Given the description of an element on the screen output the (x, y) to click on. 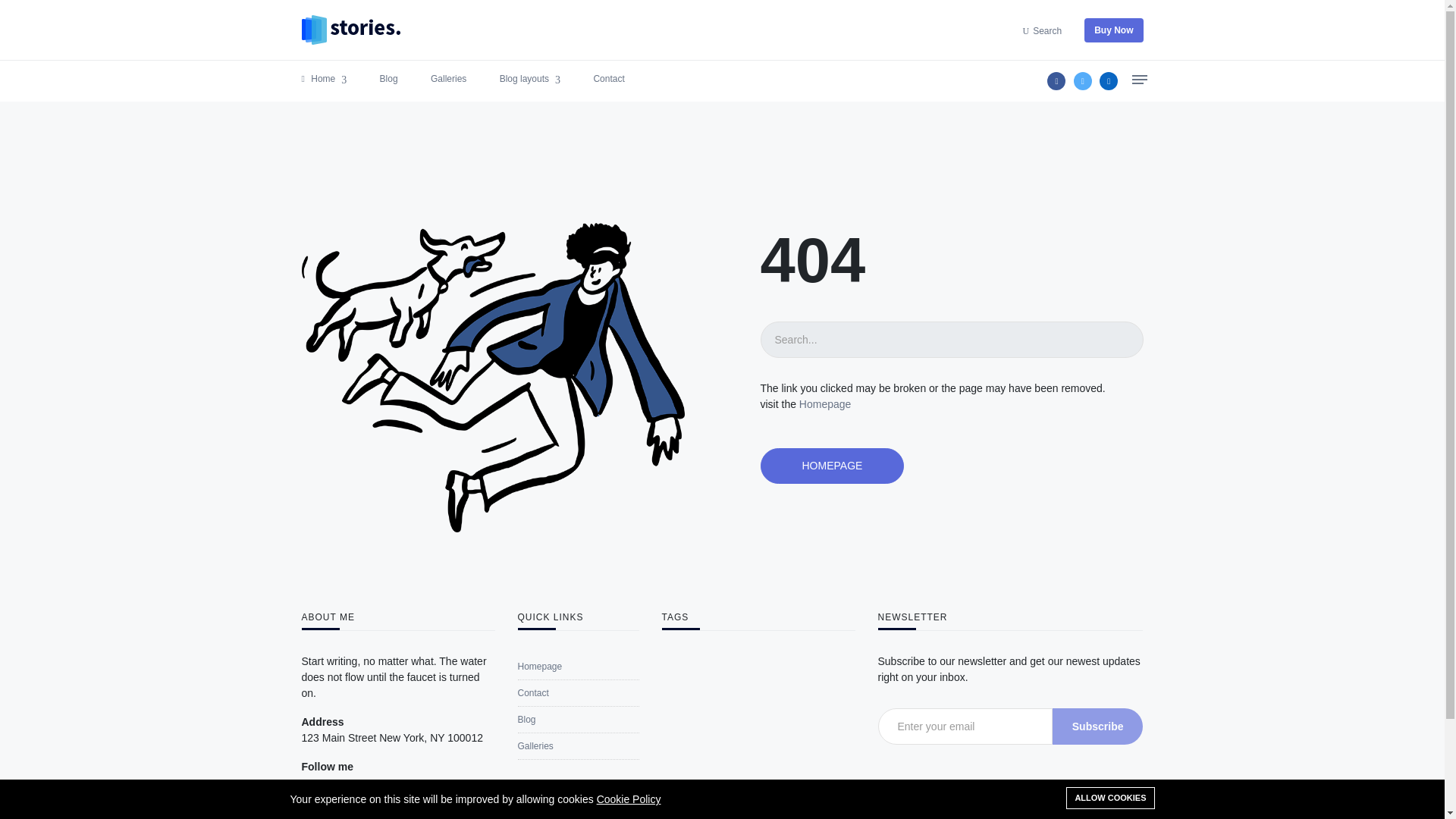
Homepage (539, 665)
Linkedin (1108, 81)
Twitter (1083, 81)
Galleries (447, 78)
Blog (388, 78)
Search (1047, 29)
Buy Now (1113, 30)
Contact (608, 78)
Blog layouts (529, 78)
Galleries (534, 746)
Linkedin (362, 796)
Twitter (336, 796)
Blog (525, 719)
Home (324, 78)
Contact (532, 692)
